Given the description of an element on the screen output the (x, y) to click on. 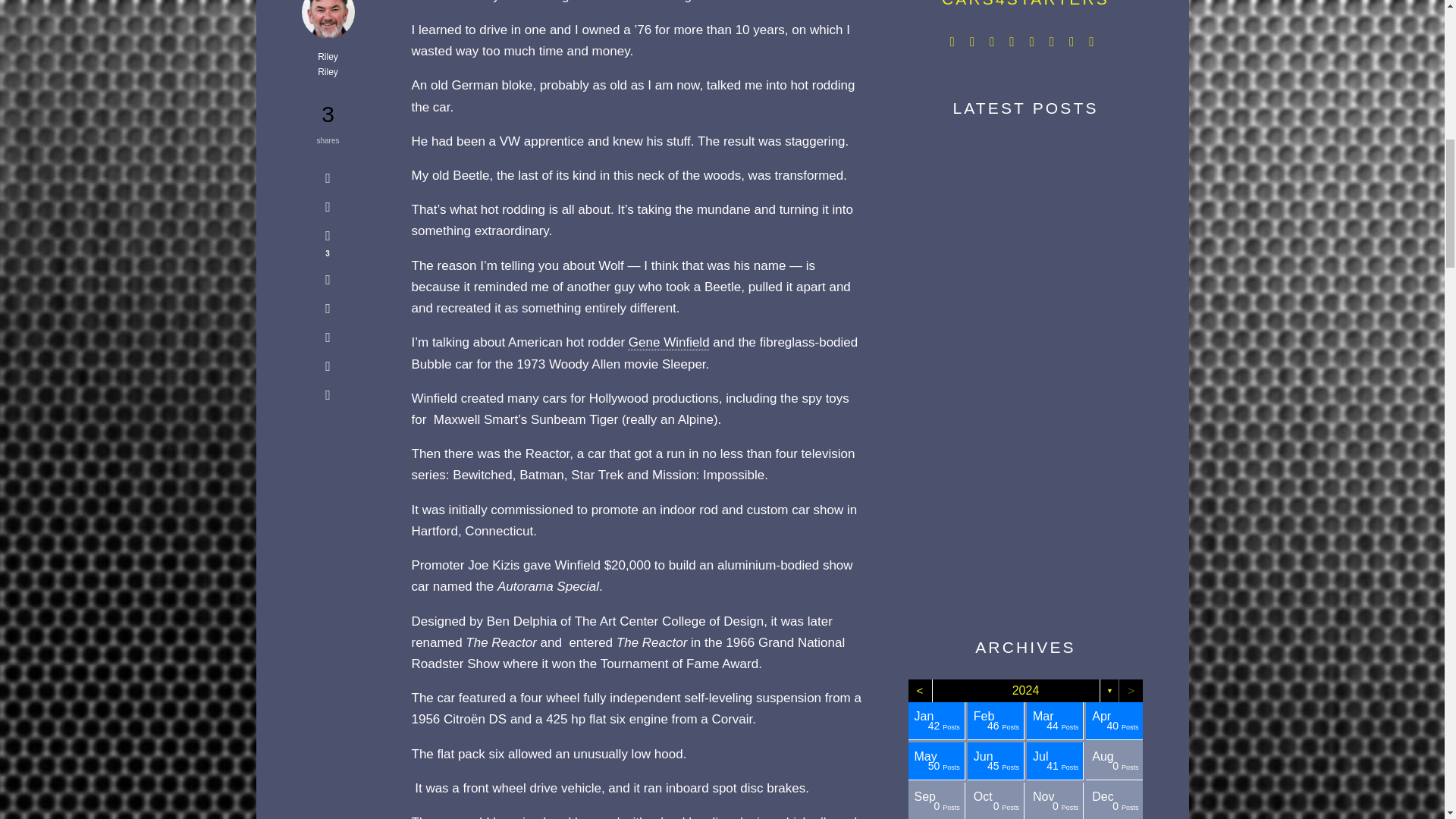
Riley (328, 57)
3 (328, 243)
Gene Winfield (669, 341)
